Given the description of an element on the screen output the (x, y) to click on. 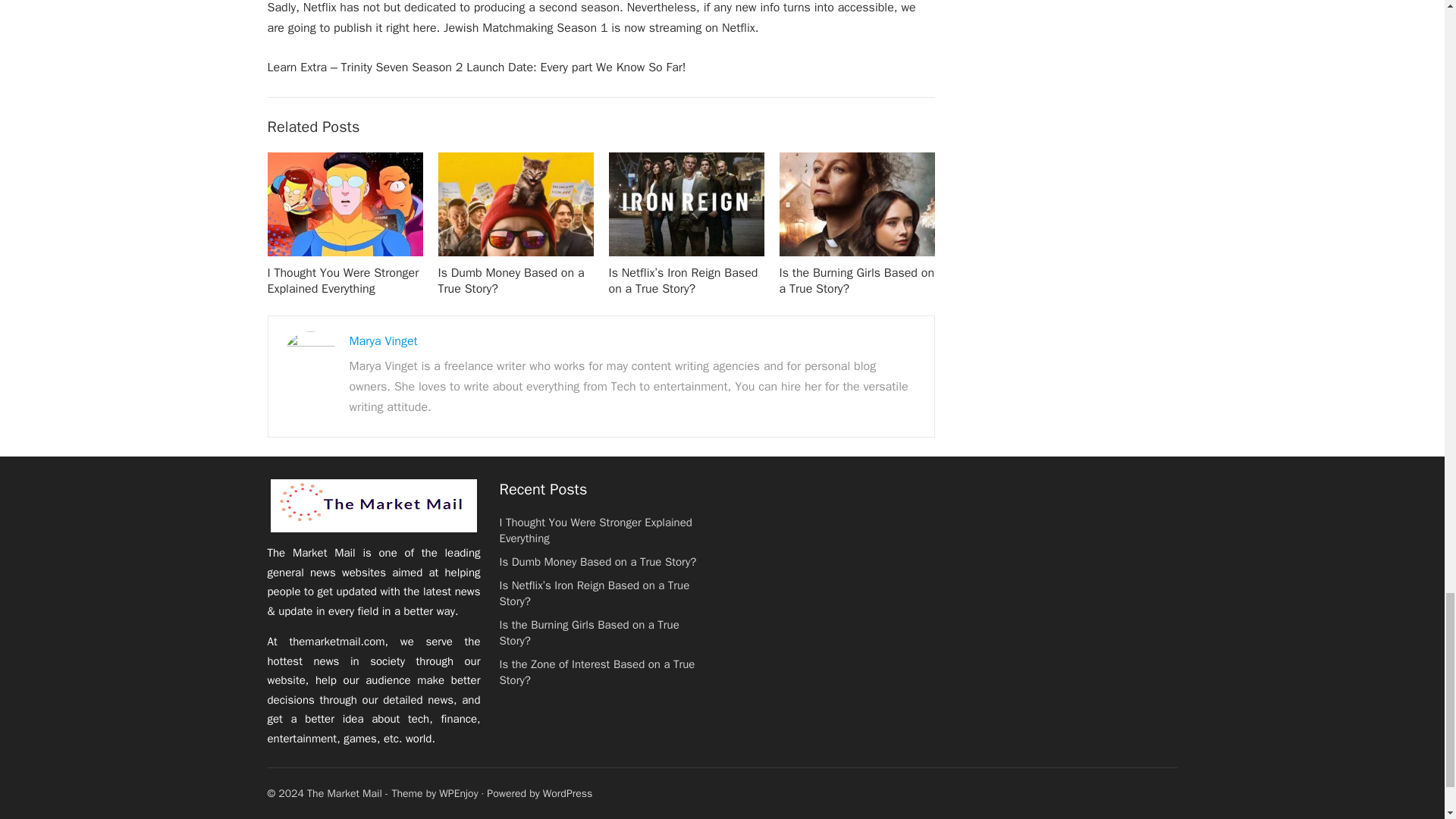
I Thought You Were Stronger Explained Everything (342, 280)
Is Dumb Money Based on a True Story? (511, 280)
Is the Burning Girls Based on a True Story? (856, 280)
Marya Vinget (382, 340)
